Given the description of an element on the screen output the (x, y) to click on. 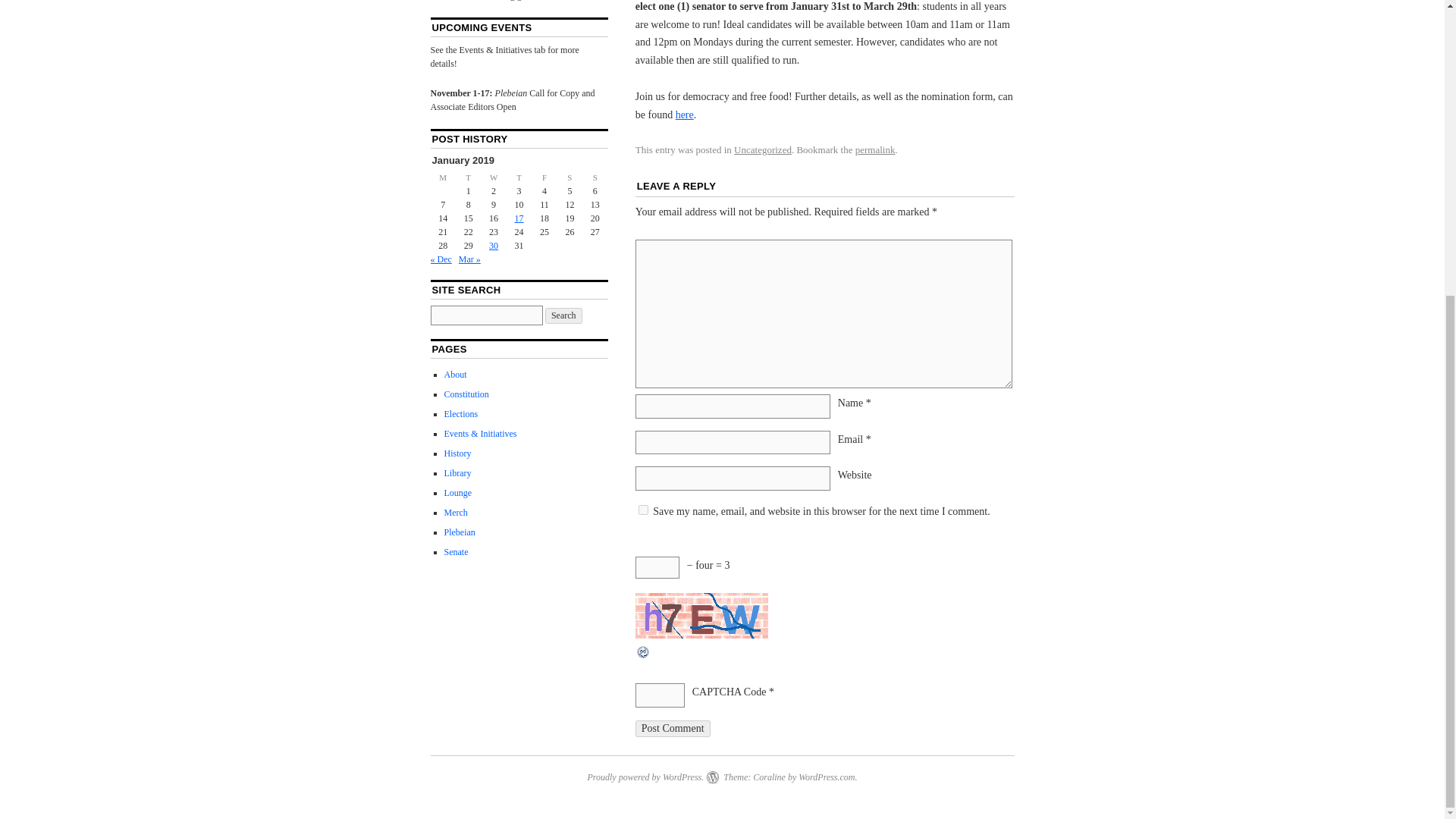
Refresh Image (643, 655)
yes (643, 510)
WordPress.com (825, 776)
CAPTCHA Image (701, 615)
Uncategorized (762, 149)
About (455, 374)
Post Comment (672, 728)
Saturday (569, 177)
Library (457, 472)
Search (563, 315)
